Given the description of an element on the screen output the (x, y) to click on. 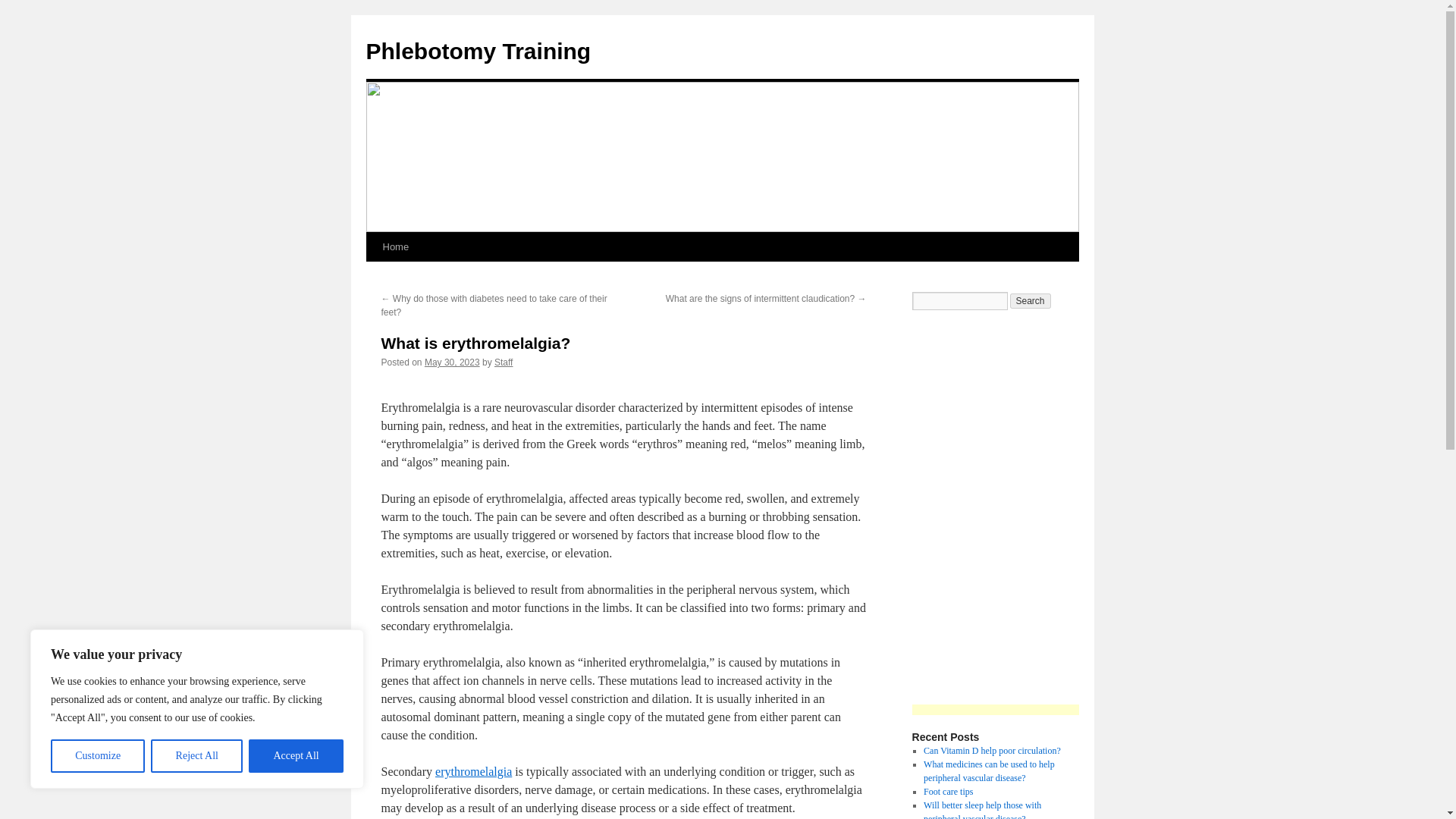
Customize (97, 756)
Phlebotomy Training (478, 50)
Accept All (295, 756)
Can Vitamin D help poor circulation? (992, 750)
Search (1030, 300)
Home (395, 246)
erythromelalgia (473, 771)
Search (1030, 300)
View all posts by Staff (503, 362)
Staff (503, 362)
